Given the description of an element on the screen output the (x, y) to click on. 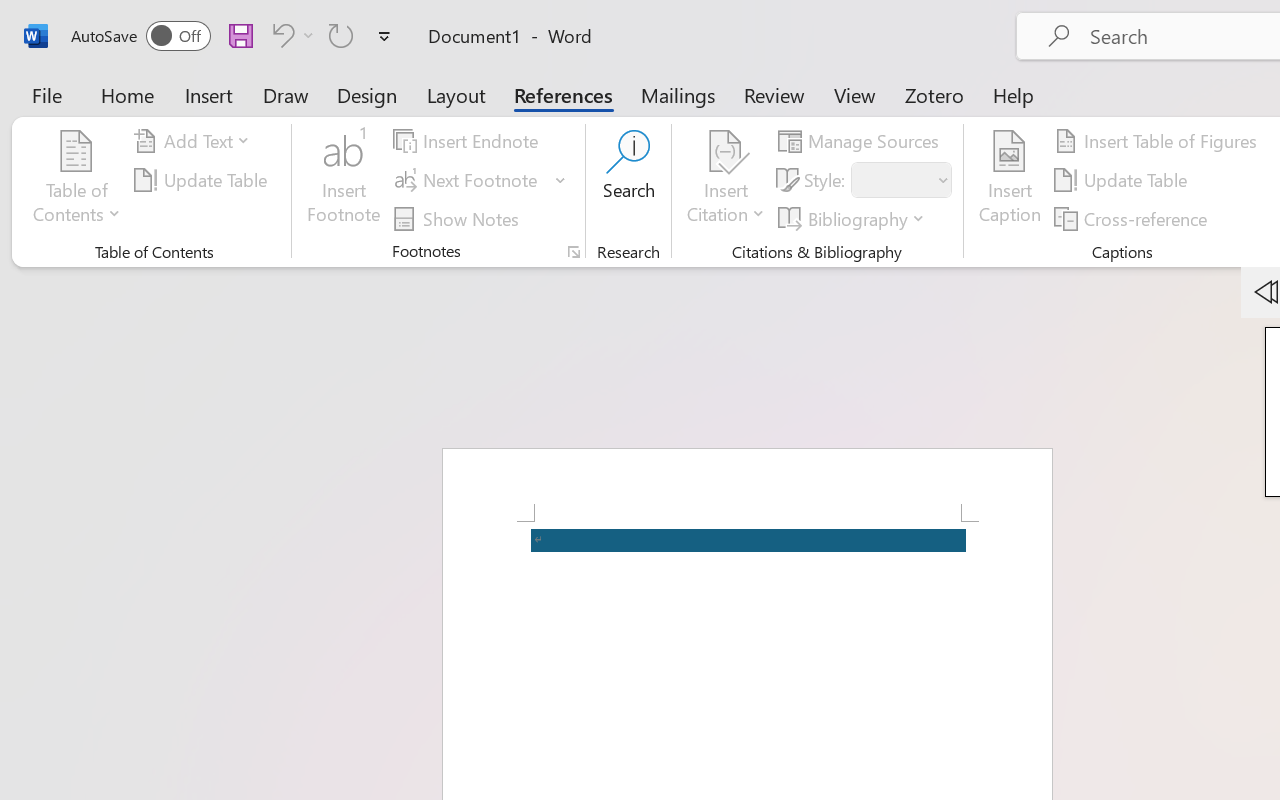
Insert Endnote (468, 141)
Insert Footnote (344, 179)
Insert Caption... (1009, 180)
Undo Apply Quick Style Set (280, 35)
Insert Table of Figures... (1158, 141)
